Given the description of an element on the screen output the (x, y) to click on. 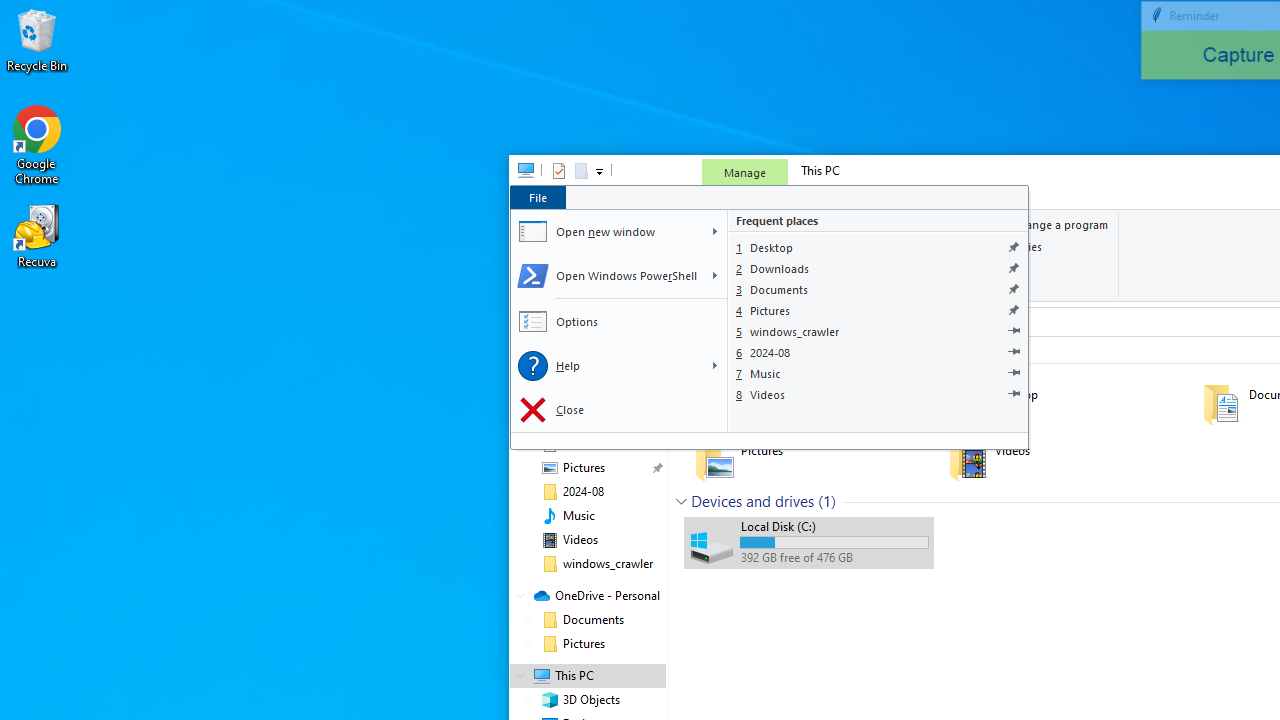
2024-08 (878, 352)
Videos (878, 393)
Documents (878, 289)
Class: NetUIHWND (769, 317)
Open new window (606, 232)
L (714, 366)
Music (878, 372)
File tab (537, 196)
S (714, 276)
Pictures (878, 310)
Downloads (878, 268)
windows_crawler (878, 331)
Close (618, 410)
Help (606, 366)
